Given the description of an element on the screen output the (x, y) to click on. 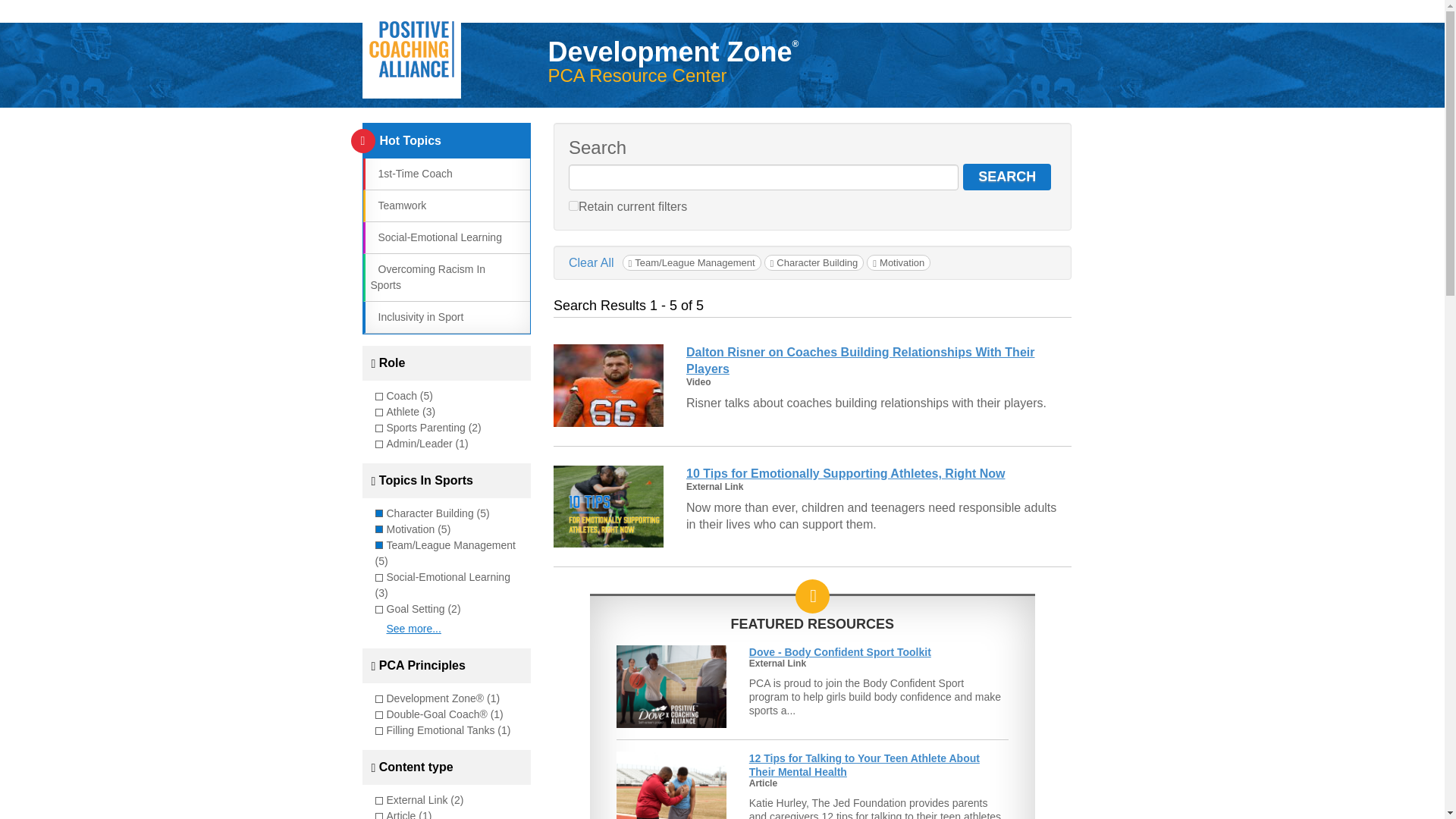
Character Building (814, 262)
Social-Emotional Learning (434, 236)
Overcoming Racism In Sports (426, 276)
Inclusivity in Sport (416, 316)
1st-Time Coach (410, 173)
Teamwork (397, 205)
SEARCH (1006, 176)
Motivation (898, 262)
Clear All (591, 262)
See more... (414, 628)
1 (573, 205)
